Given the description of an element on the screen output the (x, y) to click on. 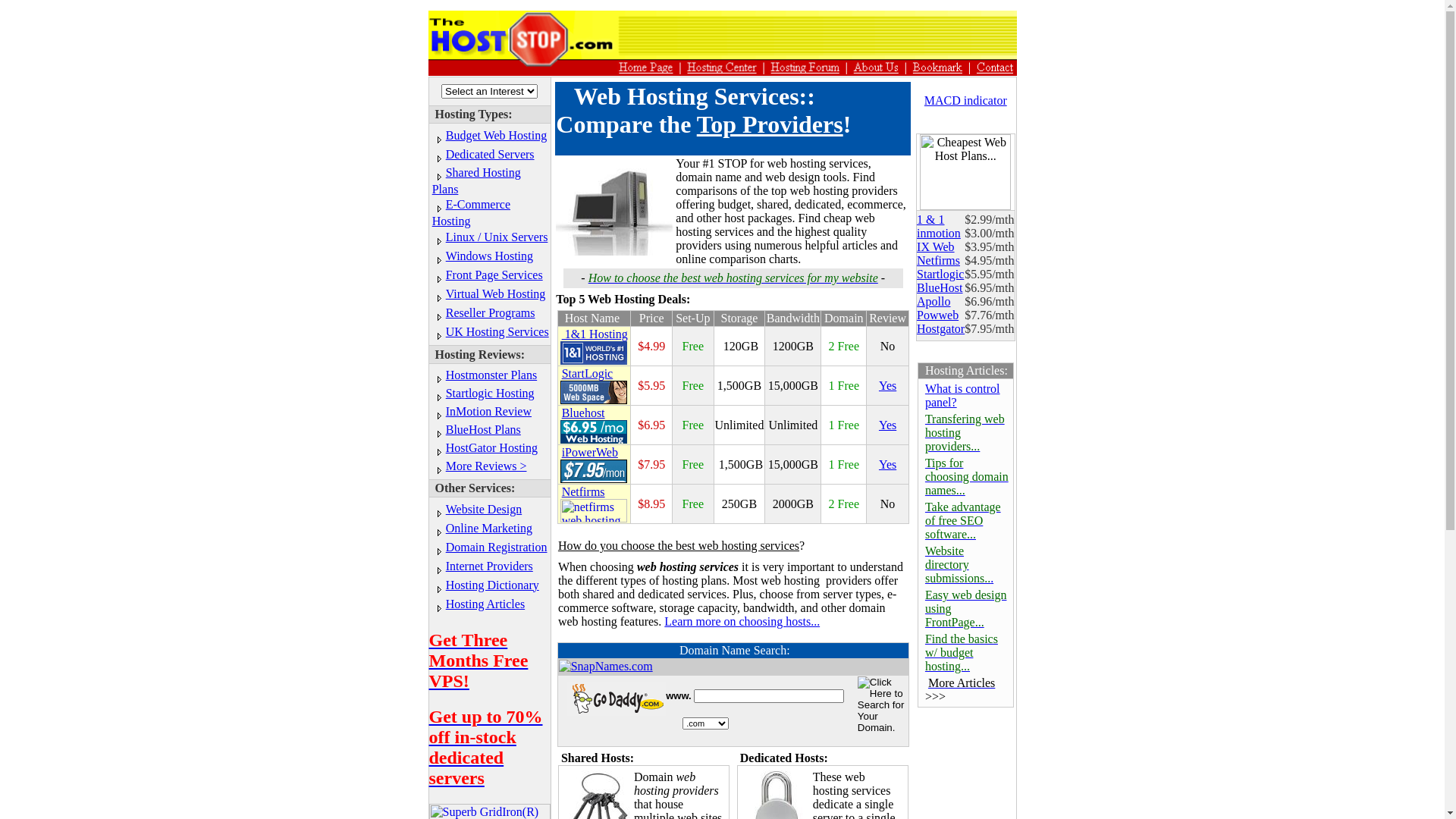
Yes Element type: text (887, 385)
InMotion Review Element type: text (488, 410)
Transfering web hosting providers... Element type: text (964, 432)
inmotion Element type: text (938, 232)
Hostmonster Plans Element type: text (490, 374)
Domain Registration Element type: text (496, 545)
Get Three Months Free VPS! Element type: text (478, 660)
More Articles Element type: text (961, 682)
More Reviews > Element type: text (486, 465)
StartLogic Element type: text (593, 386)
Easy web design using FrontPage... Element type: text (966, 608)
Tips for choosing domain names... Element type: text (966, 476)
iPowerWeb Element type: text (593, 465)
Front Page Services Element type: text (493, 274)
Yes Element type: text (887, 464)
IX Web Element type: text (935, 246)
Linux / Unix Servers Element type: text (496, 236)
Find the basics w/ budget hosting... Element type: text (961, 652)
What is control panel? Element type: text (962, 395)
Yes Element type: text (887, 424)
Reseller Programs Element type: text (490, 312)
Get up to 70% off in-stock dedicated servers Element type: text (485, 746)
Apollo Element type: text (933, 300)
BlueHost Element type: text (939, 287)
Hostgator Element type: text (940, 328)
Learn more on choosing hosts... Element type: text (741, 621)
Budget Web Hosting Element type: text (496, 134)
Startlogic Element type: text (939, 273)
Netfirms Element type: text (938, 260)
Windows Hosting Element type: text (489, 254)
Powweb Element type: text (937, 314)
Hosting Dictionary Element type: text (492, 583)
BlueHost Plans Element type: text (482, 429)
. Element type: text (991, 577)
Online Marketing Element type: text (488, 527)
1&1 Hosting Element type: text (593, 347)
SnapNames.com Element type: hover (605, 666)
1 & 1 Element type: text (930, 219)
How to choose the best web hosting services for my website Element type: text (733, 277)
UK Hosting Services Element type: text (497, 330)
Dedicated Servers Element type: text (489, 153)
Website Design Element type: text (483, 508)
Virtual Web Hosting Element type: text (495, 292)
Website directory submissions.. Element type: text (957, 564)
Take advantage of free SEO software... Element type: text (963, 520)
E-Commerce Hosting Element type: text (471, 212)
Bluehost Element type: text (593, 425)
Internet Providers Element type: text (489, 565)
HostGator Hosting Element type: text (491, 447)
MACD indicator Element type: text (965, 100)
Netfirms Element type: text (583, 491)
Hosting Articles Element type: text (484, 603)
Startlogic Hosting Element type: text (489, 392)
Shared Hosting Plans Element type: text (476, 180)
